Given the description of an element on the screen output the (x, y) to click on. 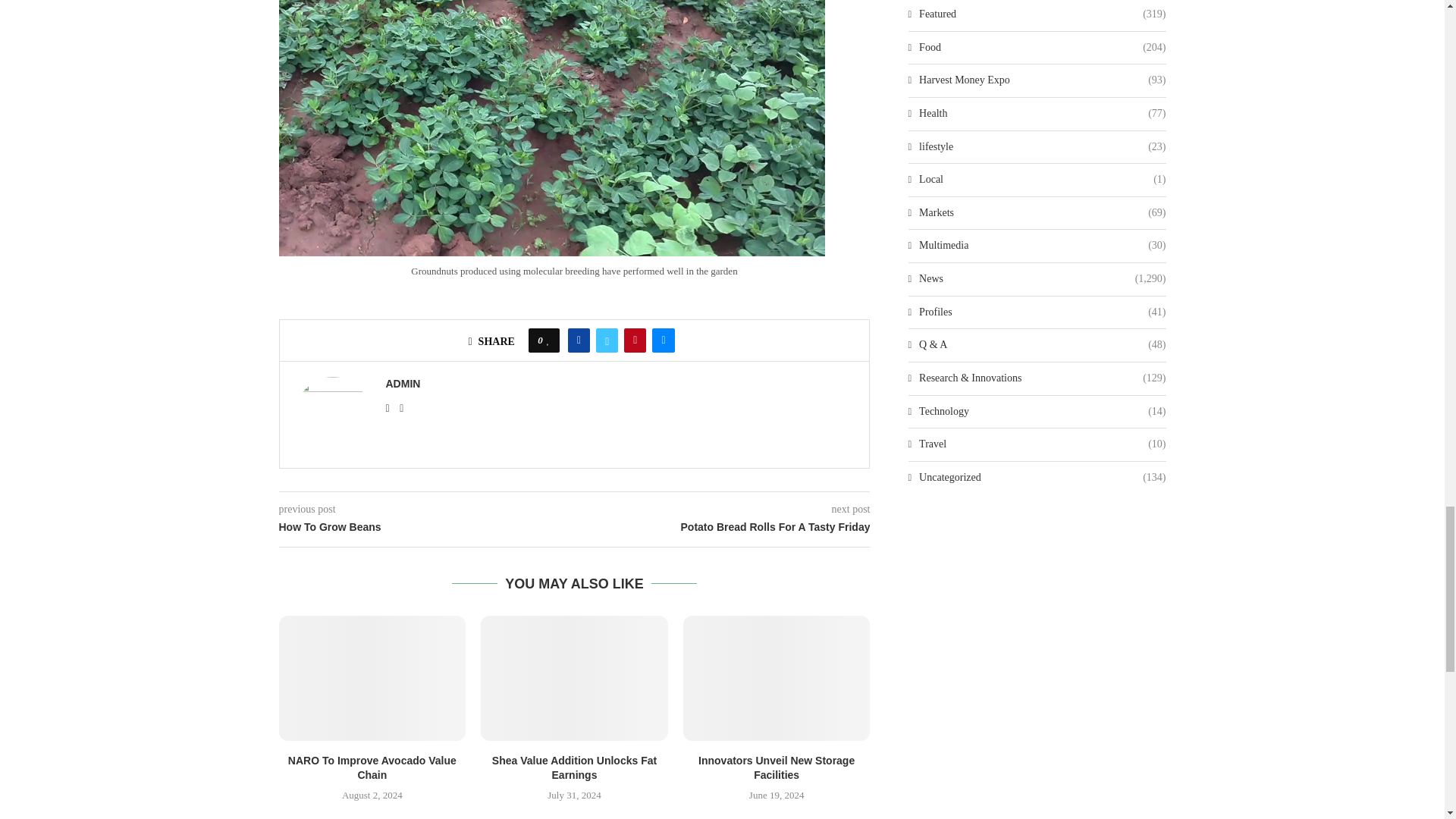
NARO To Improve Avocado Value Chain (372, 677)
Innovators Unveil New Storage Facilities (776, 677)
Author admin (402, 383)
Shea Value Addition Unlocks Fat Earnings (574, 677)
